Given the description of an element on the screen output the (x, y) to click on. 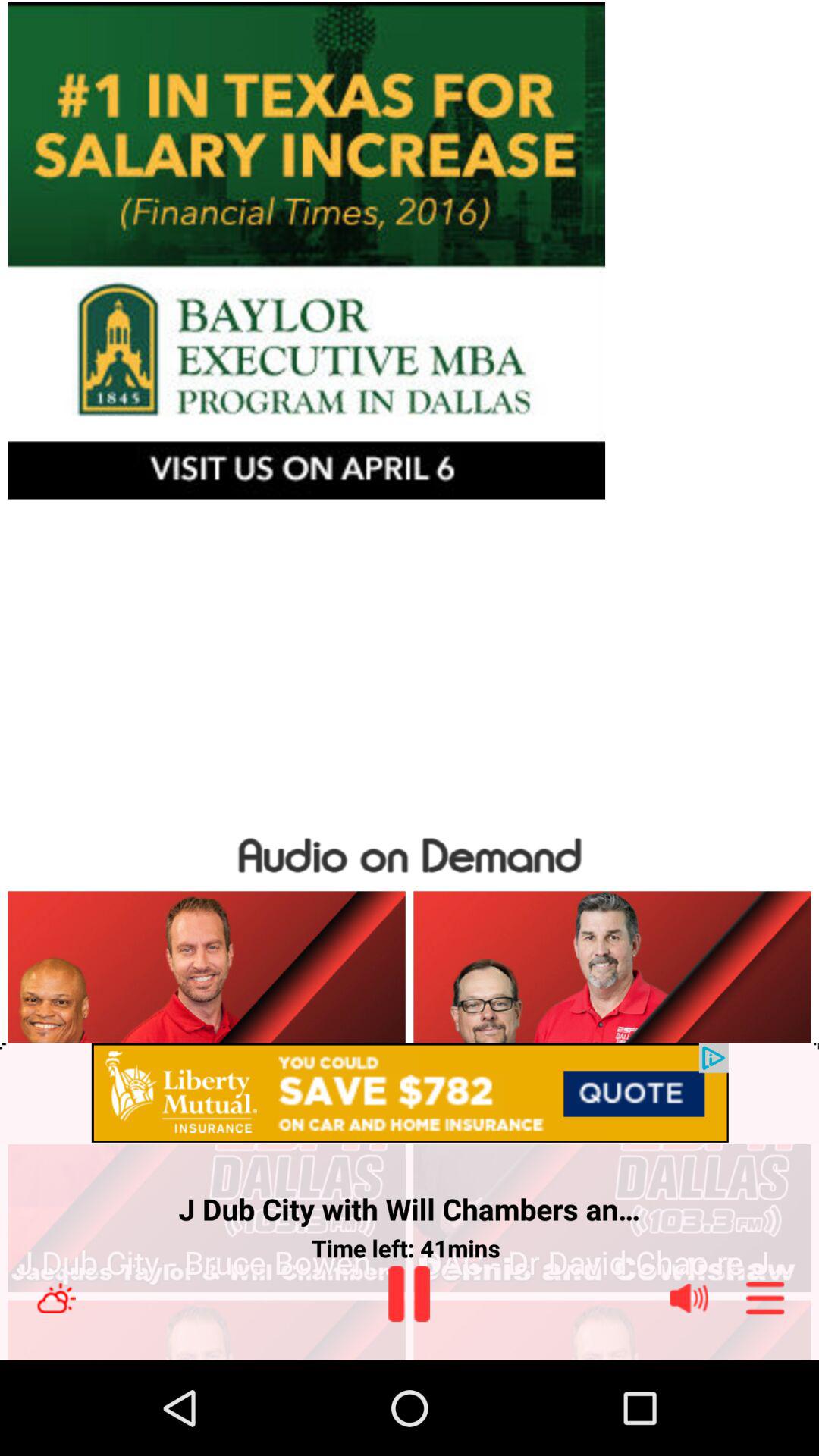
browse list of stations (765, 1298)
